Given the description of an element on the screen output the (x, y) to click on. 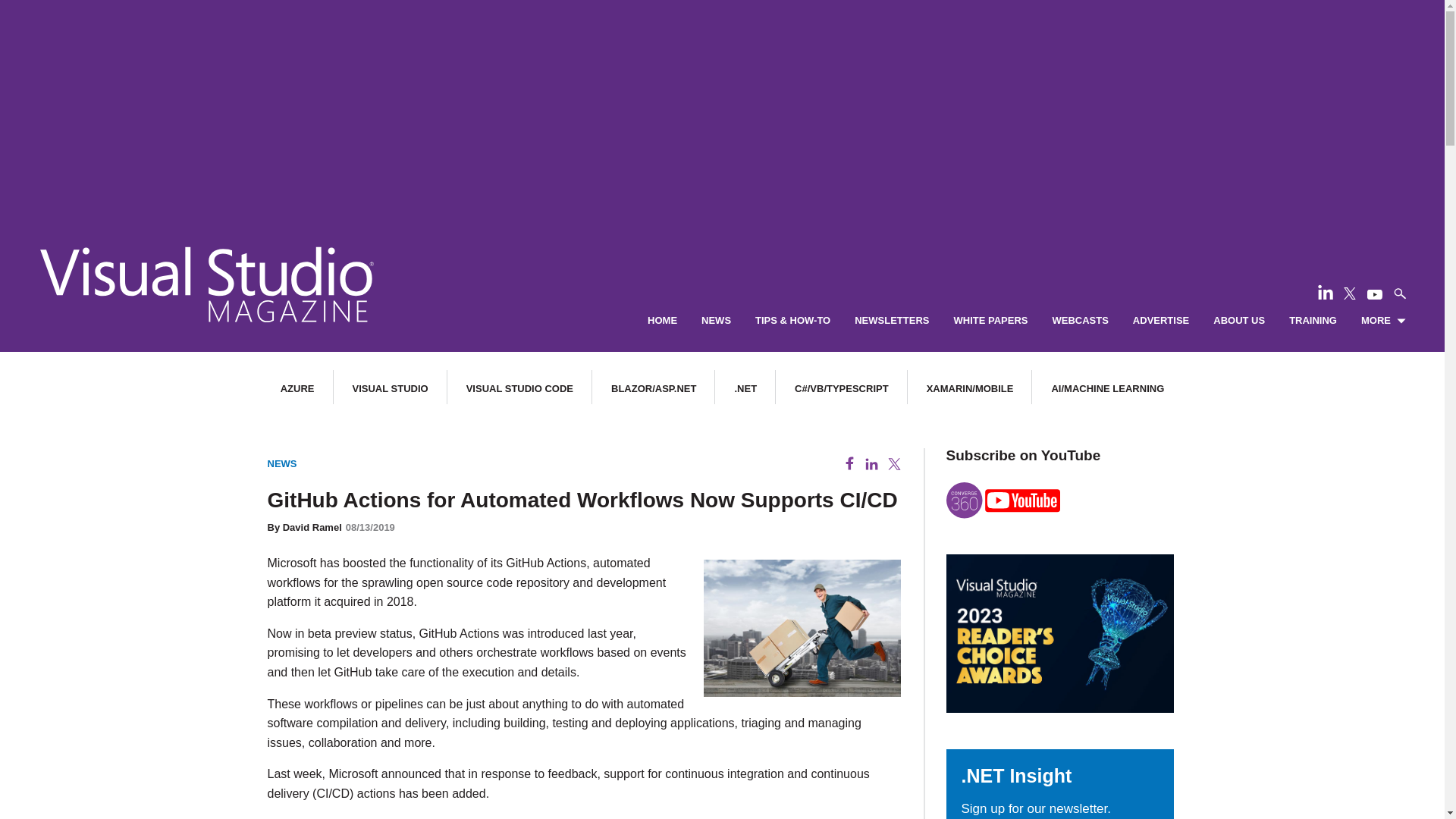
WHITE PAPERS (990, 320)
VISUAL STUDIO (390, 388)
WEBCASTS (1079, 320)
.NET (745, 388)
VISUAL STUDIO CODE (519, 388)
MORE (1383, 320)
NEWS (715, 320)
ABOUT US (1238, 320)
HOME (662, 320)
ADVERTISE (1160, 320)
